Given the description of an element on the screen output the (x, y) to click on. 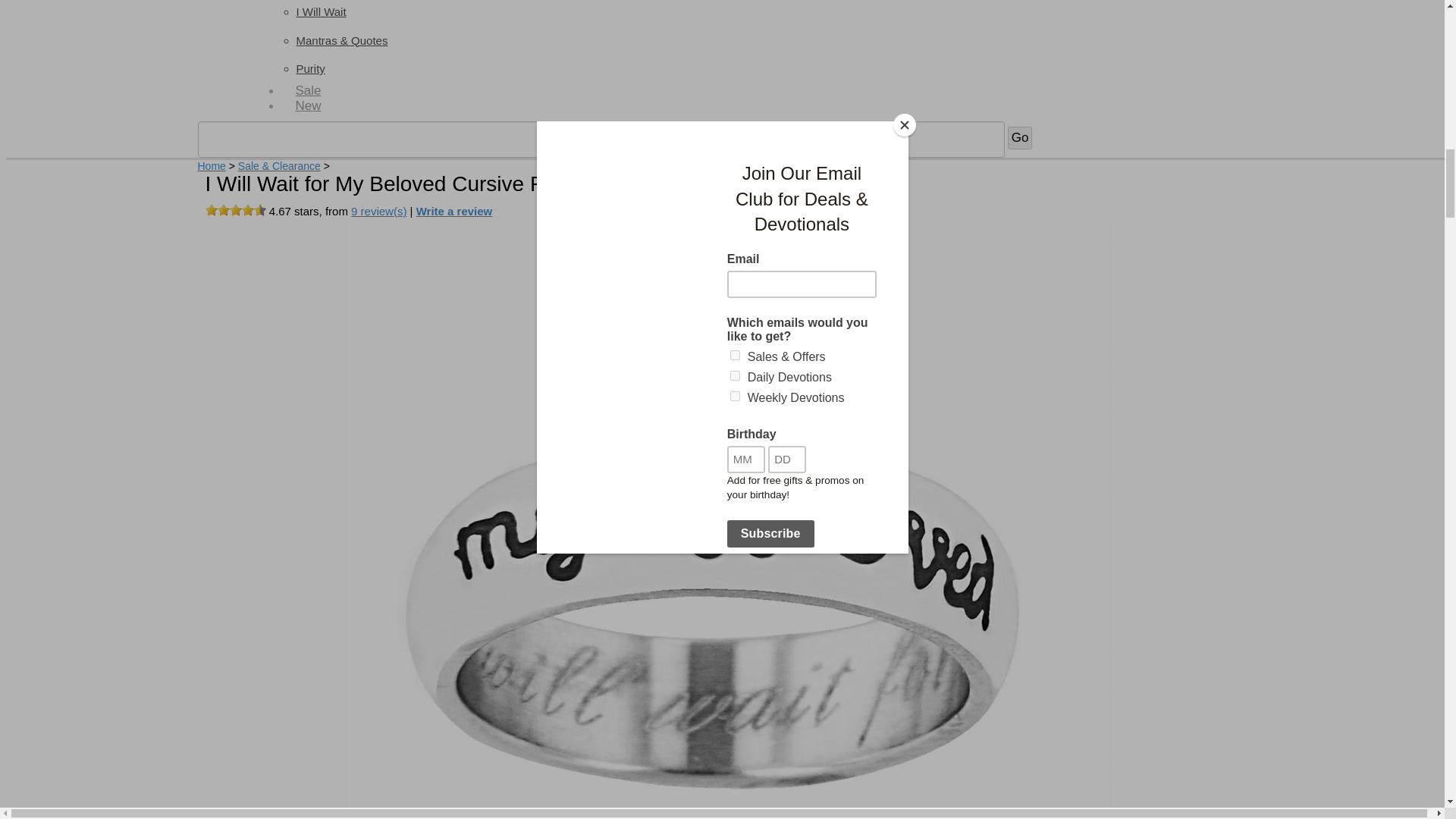
Go (1019, 137)
